Given the description of an element on the screen output the (x, y) to click on. 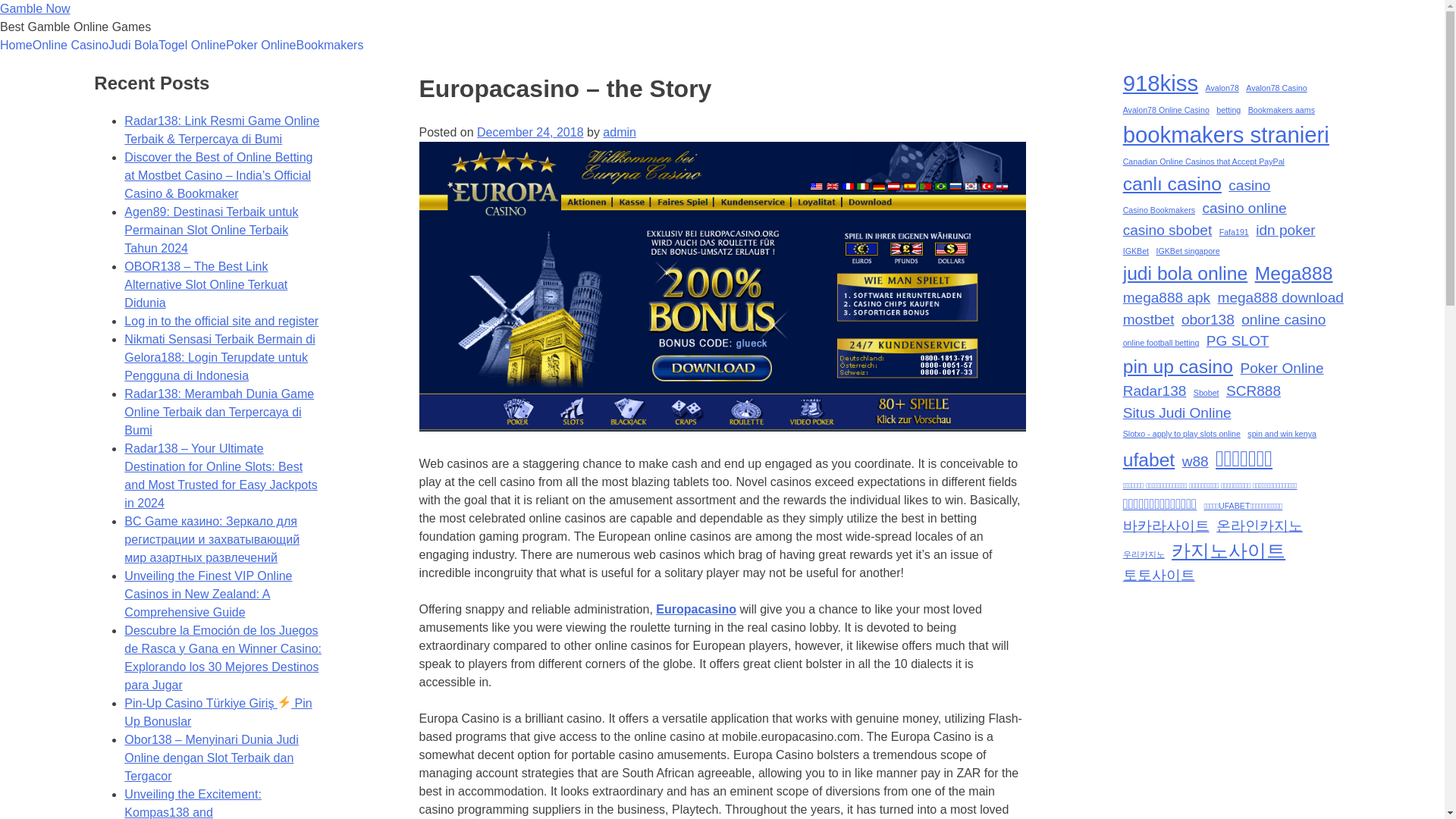
December 24, 2018 (530, 132)
Online Casino (70, 45)
Poker Online (261, 45)
Judi Bola (132, 45)
Home (16, 45)
Gamble Now (34, 8)
admin (619, 132)
